Given the description of an element on the screen output the (x, y) to click on. 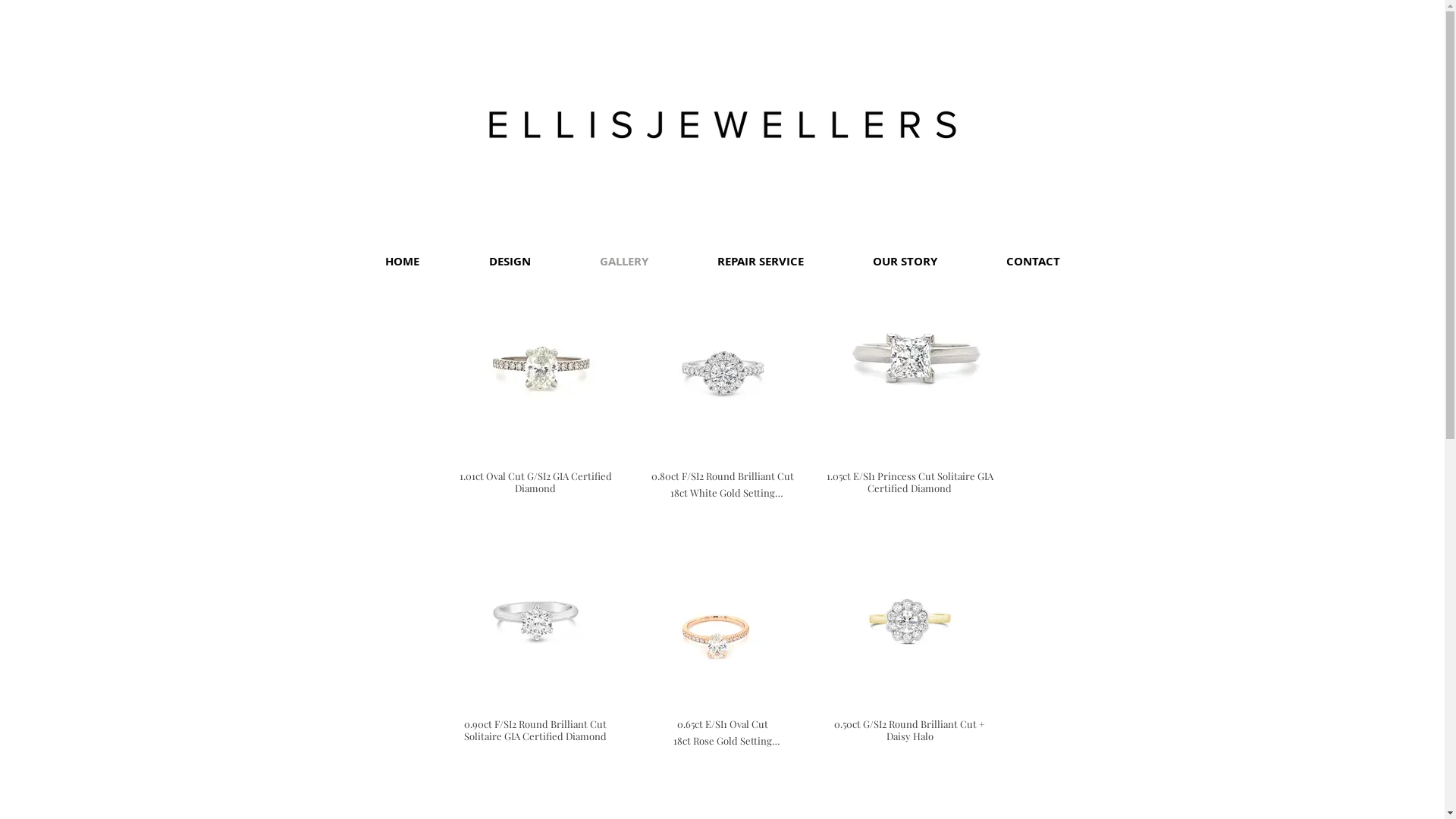
DESIGN Element type: text (508, 261)
CONTACT Element type: text (1031, 261)
GALLERY Element type: text (622, 261)
Ellis-Jewellers_2020_1_single-line-UC (1 Element type: hover (722, 124)
OUR STORY Element type: text (903, 261)
REPAIR SERVICE Element type: text (759, 261)
HOME Element type: text (401, 261)
